Given the description of an element on the screen output the (x, y) to click on. 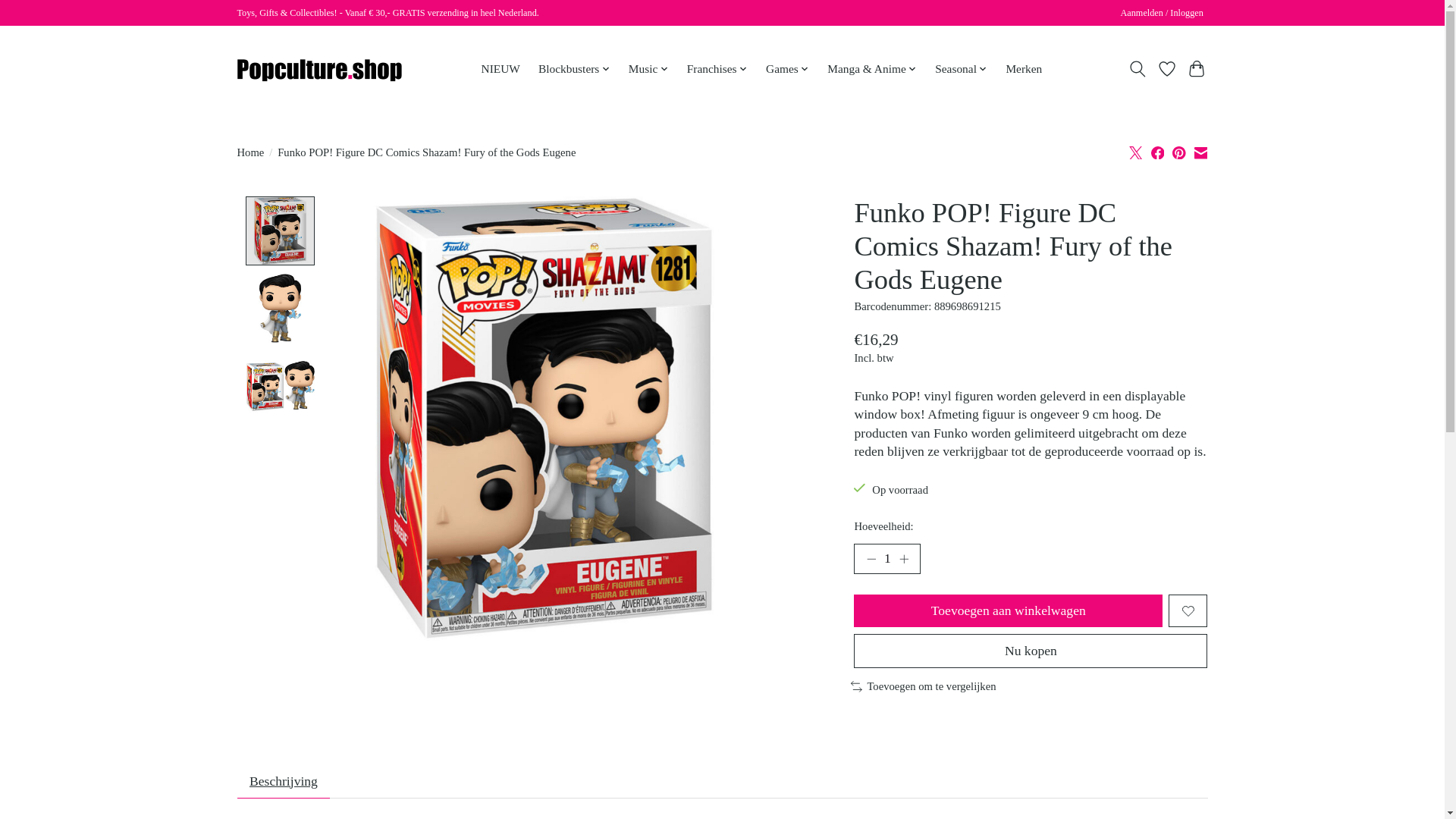
NIEUW (500, 68)
Share on Facebook (1157, 151)
Popculture.shop (319, 69)
Share on Pinterest (1178, 151)
Blockbusters (573, 68)
Share by Email (1200, 151)
Mijn account (1162, 13)
1 (886, 558)
Share on X (1135, 151)
